Given the description of an element on the screen output the (x, y) to click on. 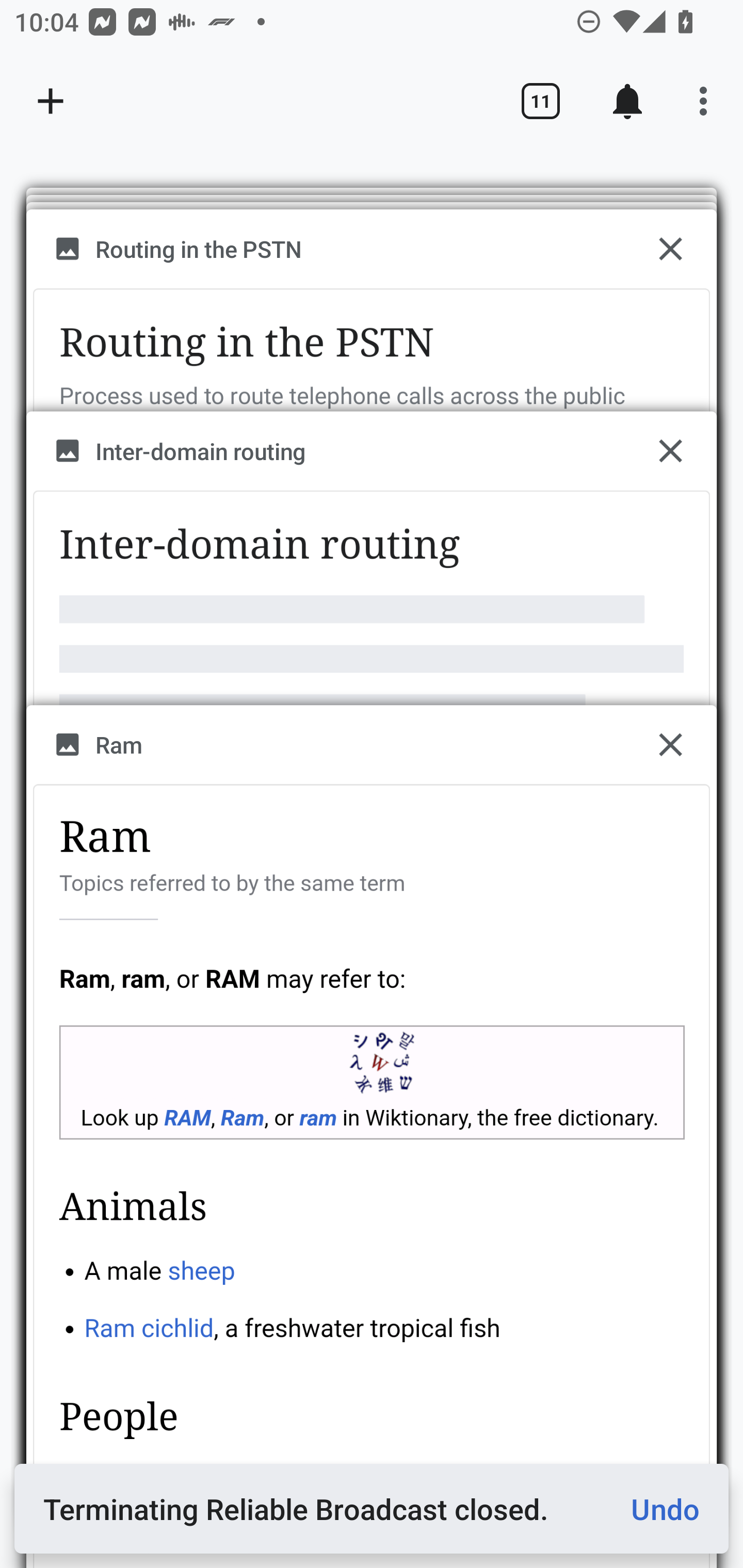
Back 11 (540, 100)
Notifications (626, 100)
New tab (50, 101)
More options (706, 101)
Undo (657, 1509)
